Given the description of an element on the screen output the (x, y) to click on. 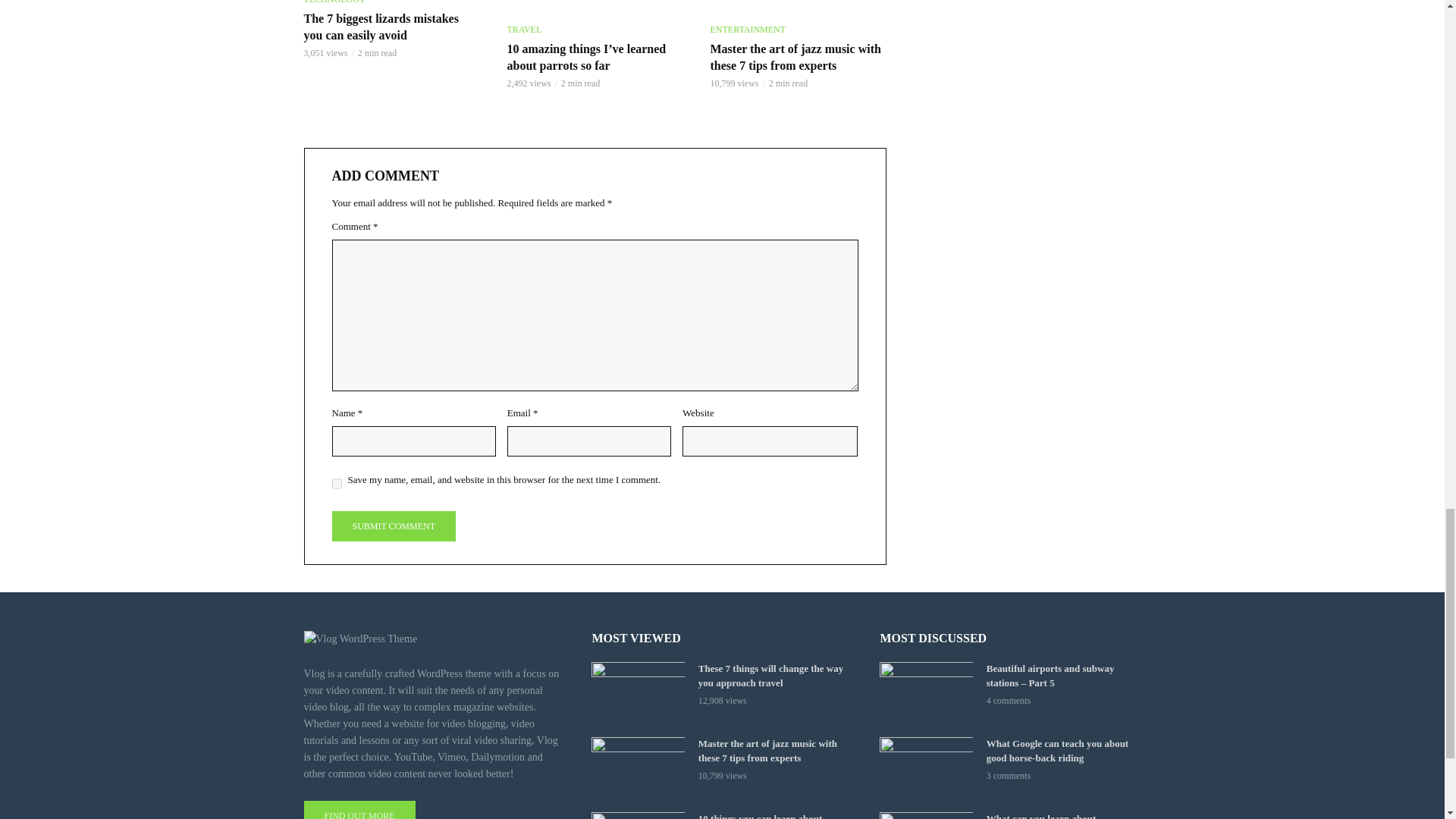
What can you learn about entertainment from cats (925, 815)
Submit Comment (393, 526)
Master the art of jazz music with these 7 tips from experts (797, 56)
TRAVEL (523, 29)
ENTERTAINMENT (748, 29)
What Google can teach you about good horse-back riding (925, 767)
These 7 things will change the way you approach travel (637, 692)
Submit Comment (393, 526)
10 things you can learn about fashion from walruses (637, 815)
Master the art of jazz music with these 7 tips from experts (797, 6)
TECHNOLOGY (333, 3)
VIDEO (594, 6)
Master the art of jazz music with these 7 tips from experts (637, 767)
The 7 biggest lizards mistakes you can easily avoid (390, 26)
VIDEO (797, 6)
